Given the description of an element on the screen output the (x, y) to click on. 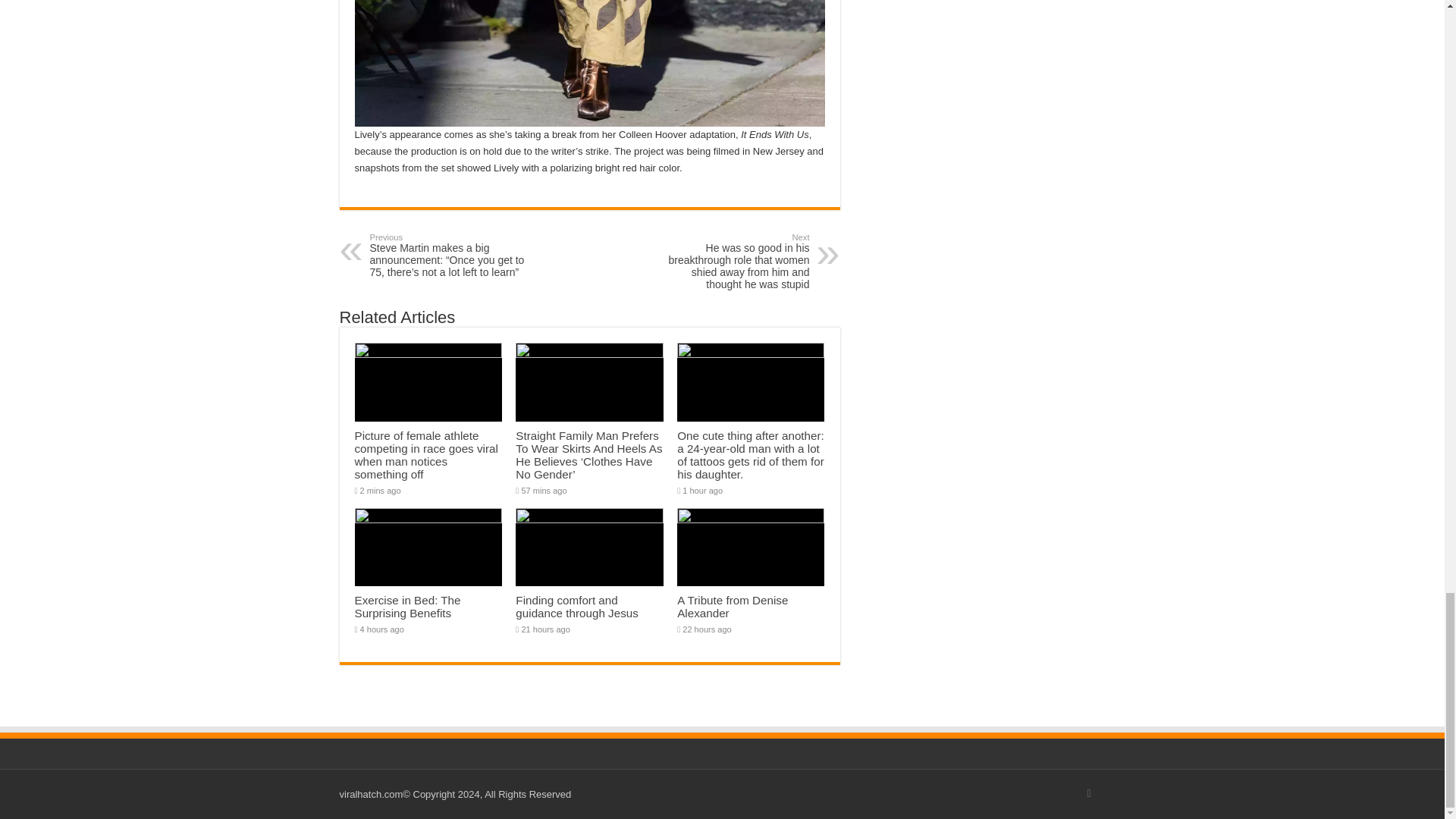
Finding comfort and guidance through Jesus (576, 606)
Exercise in Bed: The Surprising Benefits (408, 606)
A Tribute from Denise Alexander (732, 606)
